Given the description of an element on the screen output the (x, y) to click on. 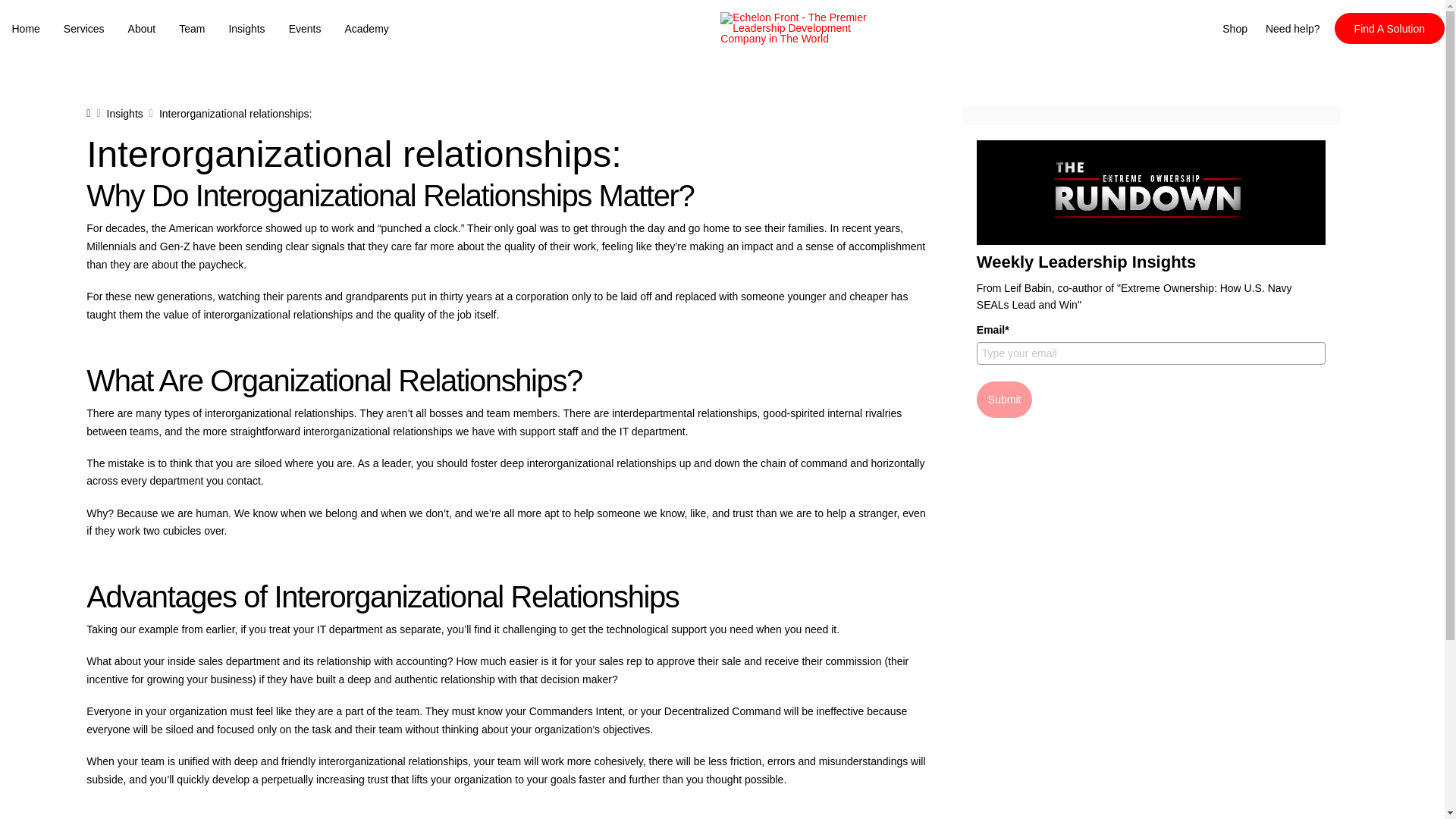
You Are Here (235, 113)
About (141, 28)
Team (191, 28)
Shop (1234, 28)
Interorganizational relationships: (235, 113)
Insights (246, 28)
Academy (366, 28)
Home (25, 28)
Need help? (1292, 28)
Services (83, 28)
